Given the description of an element on the screen output the (x, y) to click on. 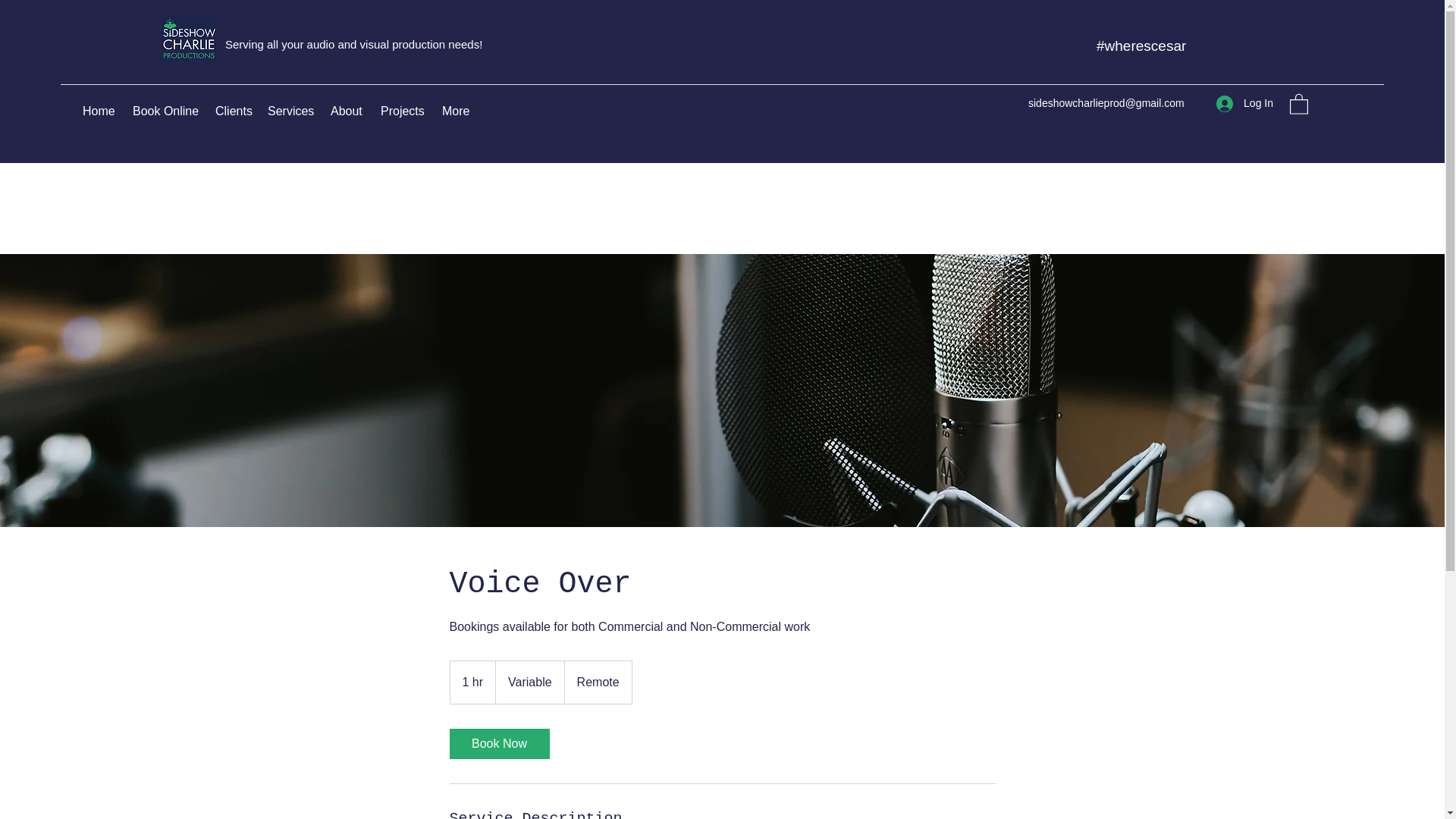
Book Online (166, 111)
About (347, 111)
Projects (402, 111)
Book Now (498, 743)
Log In (1244, 103)
Home (100, 111)
Services (291, 111)
Clients (234, 111)
